Given the description of an element on the screen output the (x, y) to click on. 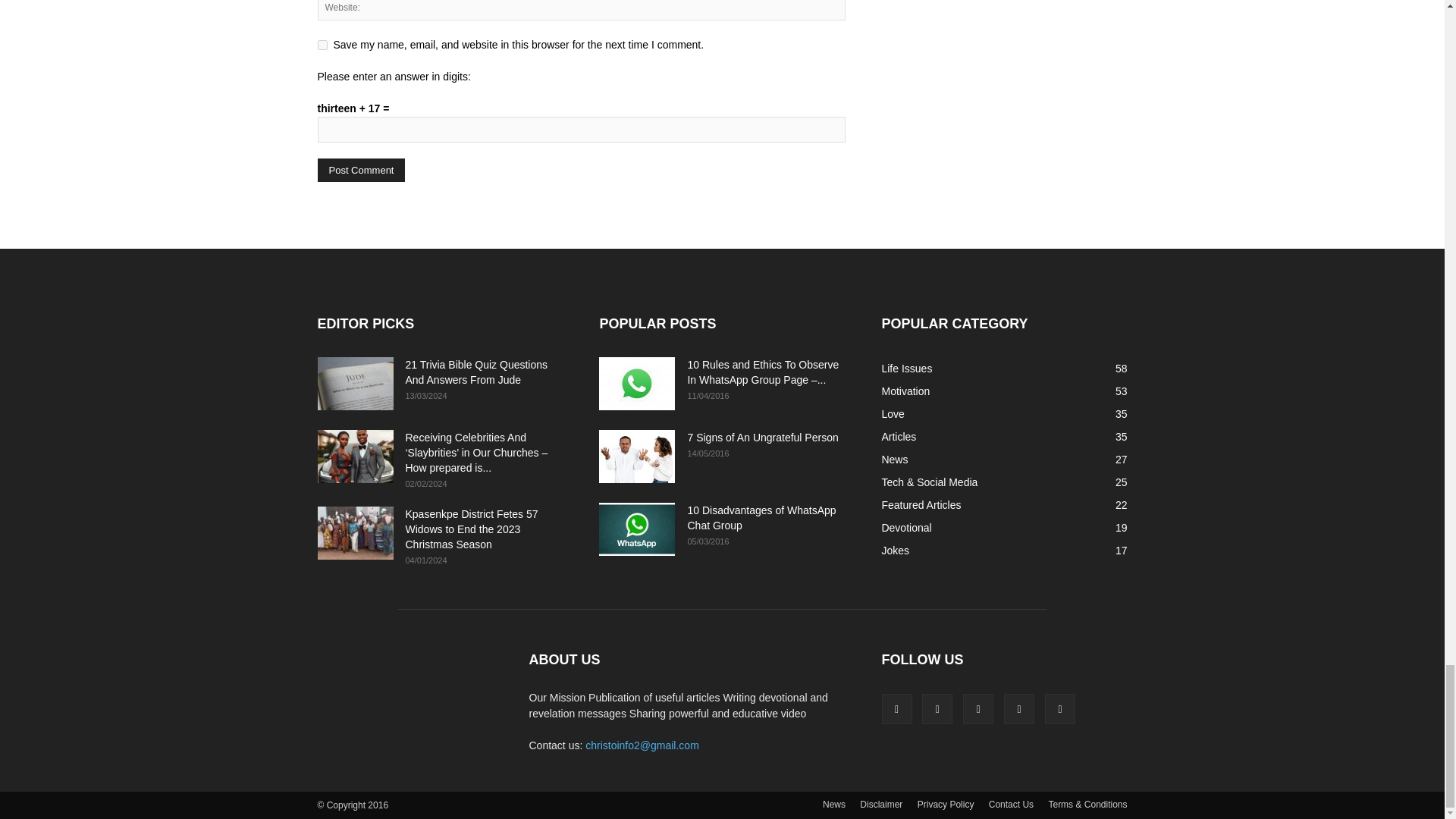
yes (321, 44)
Post Comment (360, 169)
